Given the description of an element on the screen output the (x, y) to click on. 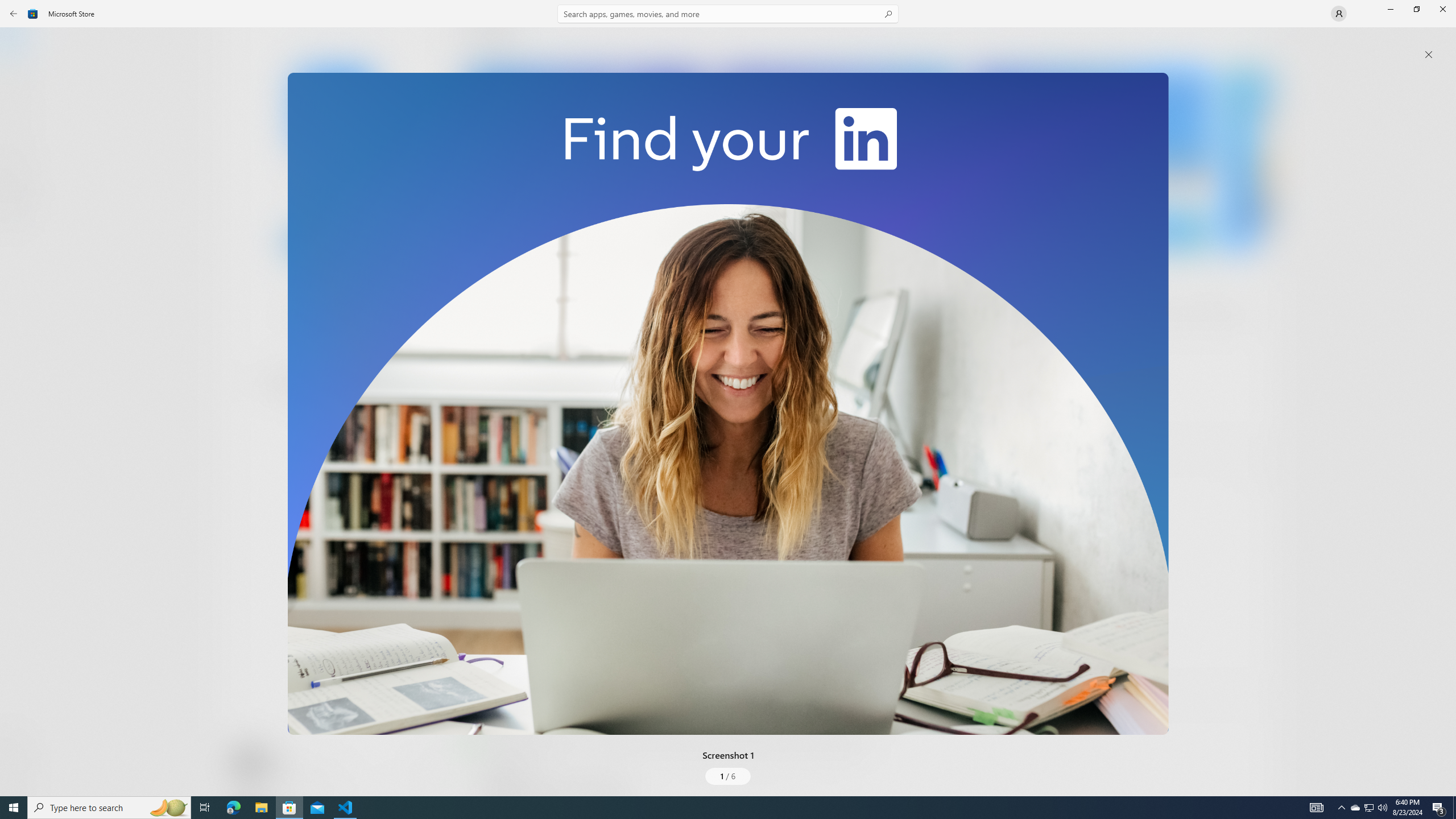
Class: Image (727, 403)
